Given the description of an element on the screen output the (x, y) to click on. 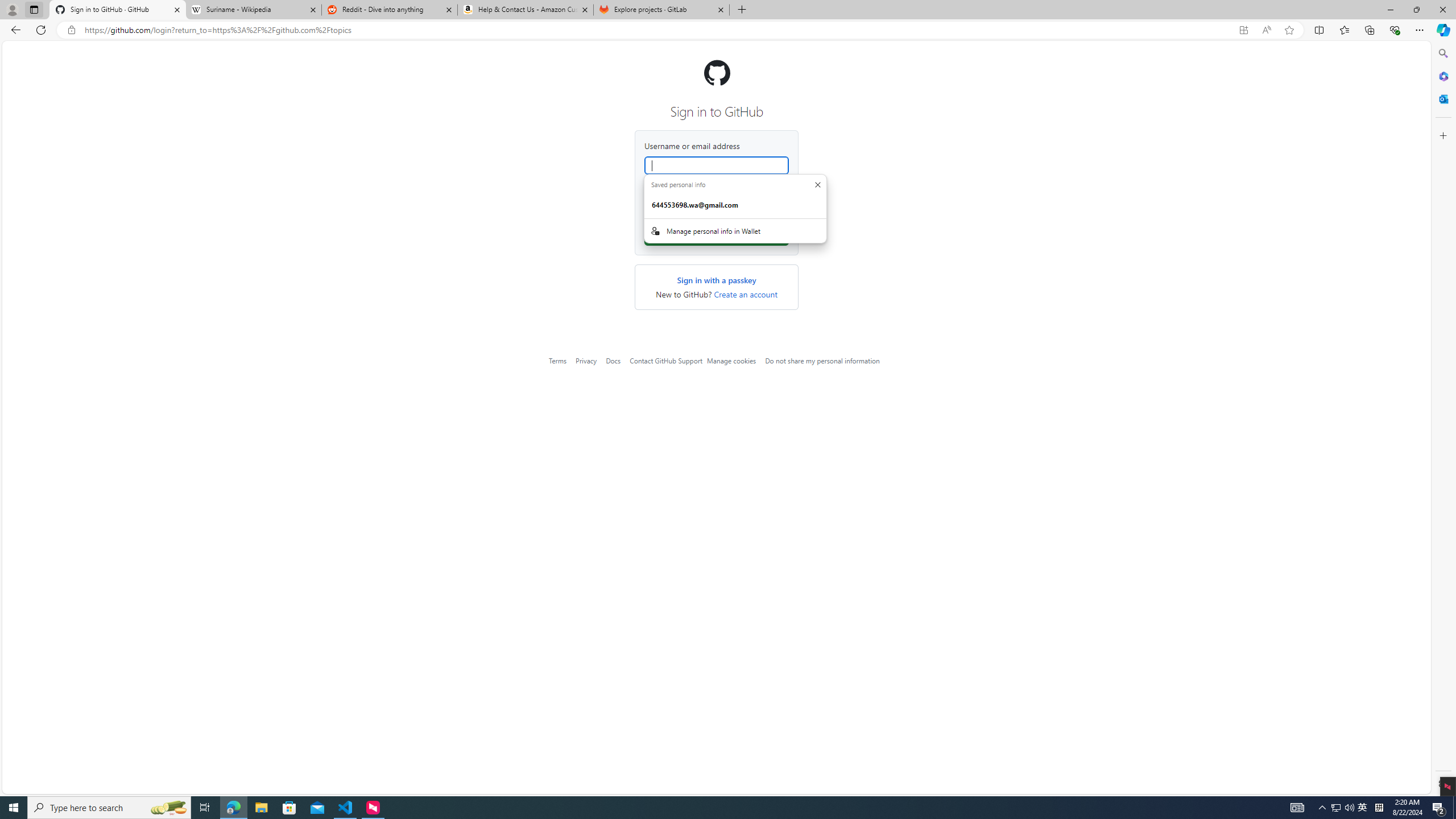
Contact GitHub Support (664, 360)
Homepage (716, 72)
Password (717, 208)
Manage personal info in Wallet (735, 230)
